Given the description of an element on the screen output the (x, y) to click on. 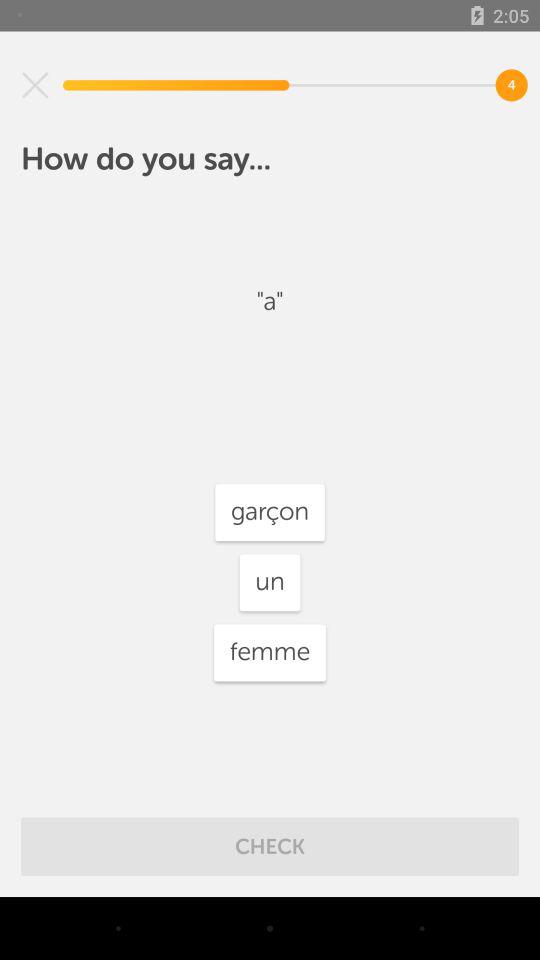
turn off un icon (269, 582)
